Given the description of an element on the screen output the (x, y) to click on. 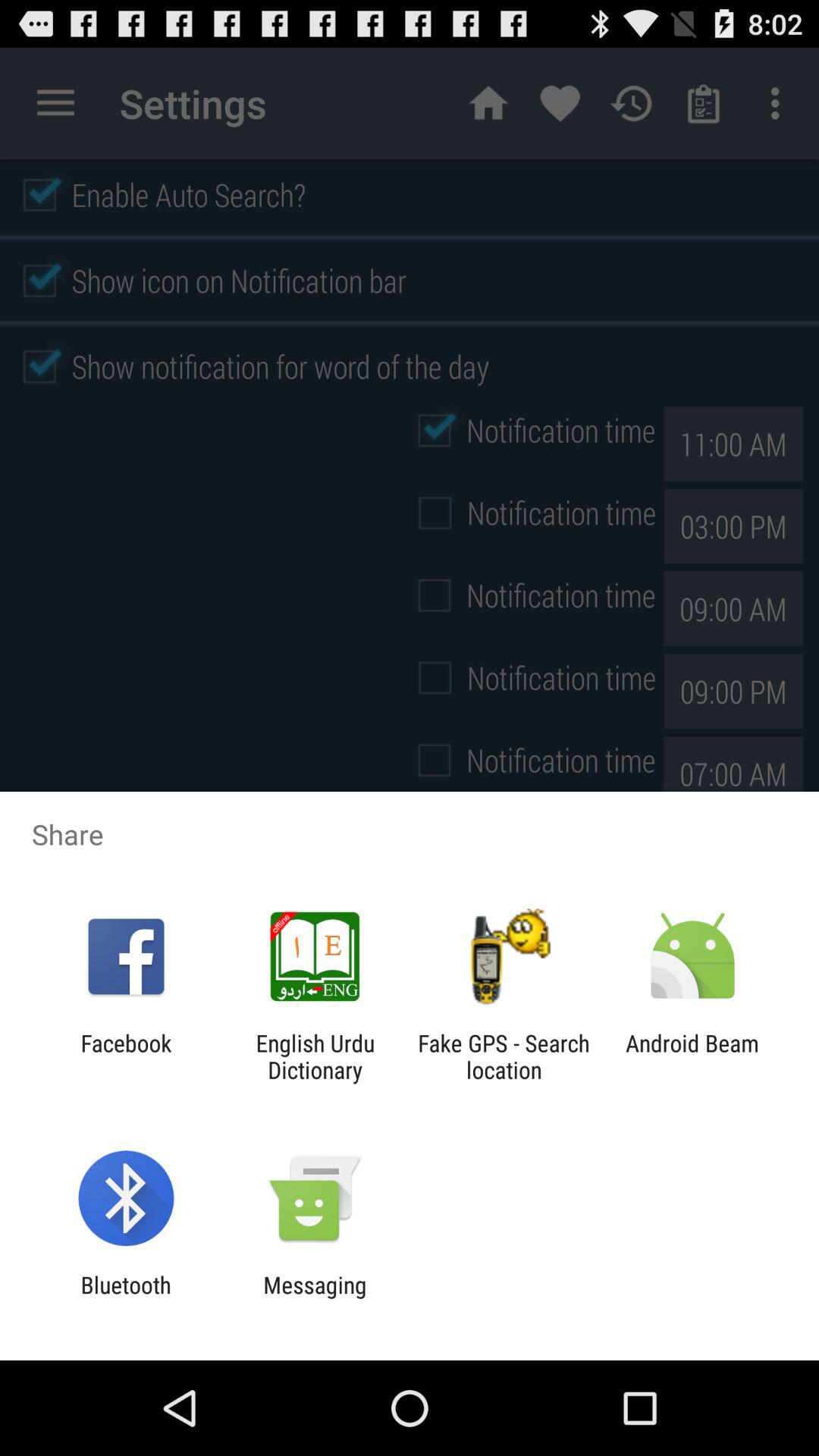
press english urdu dictionary (314, 1056)
